Given the description of an element on the screen output the (x, y) to click on. 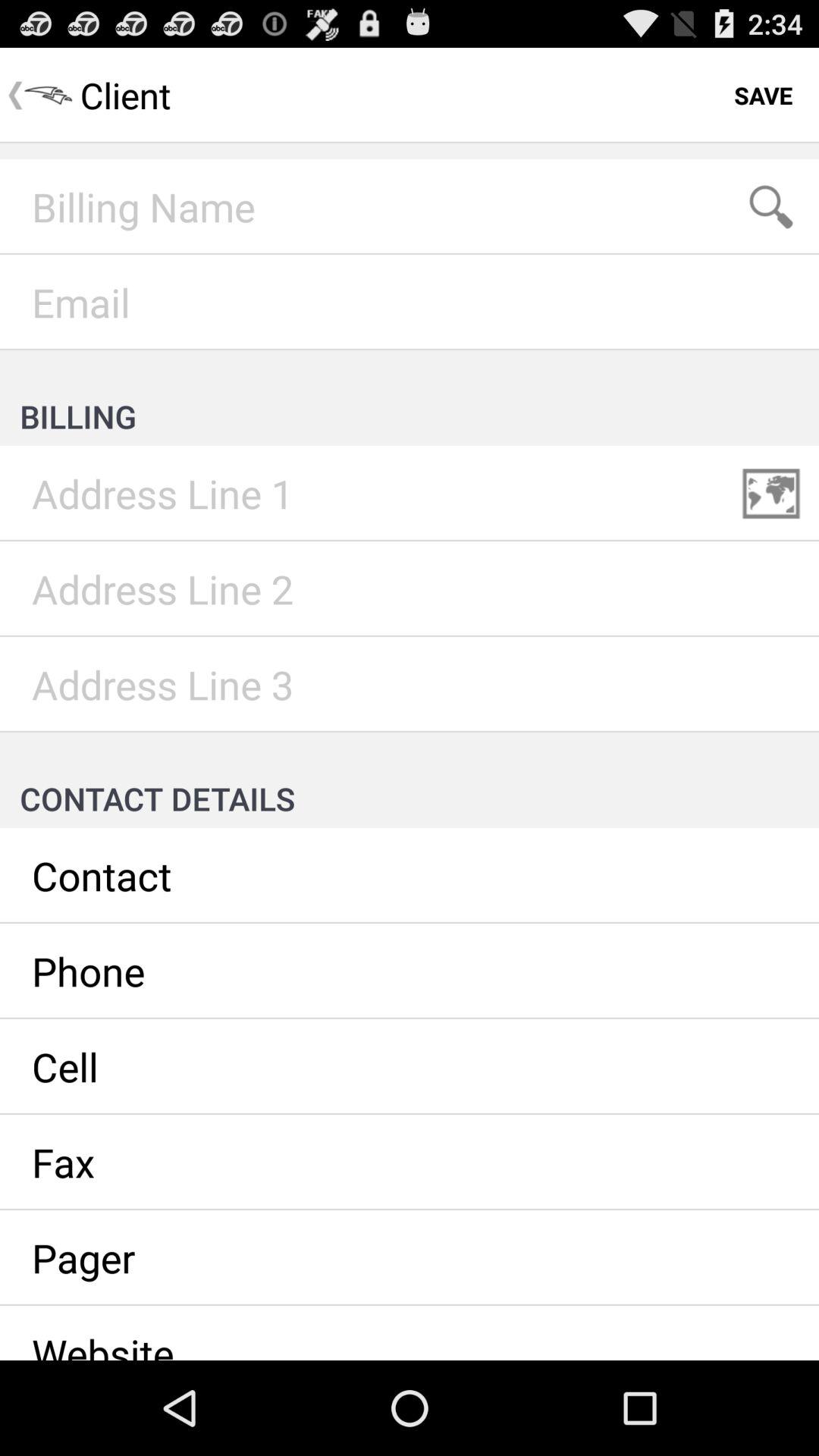
choose the item to the right of the client (763, 95)
